Given the description of an element on the screen output the (x, y) to click on. 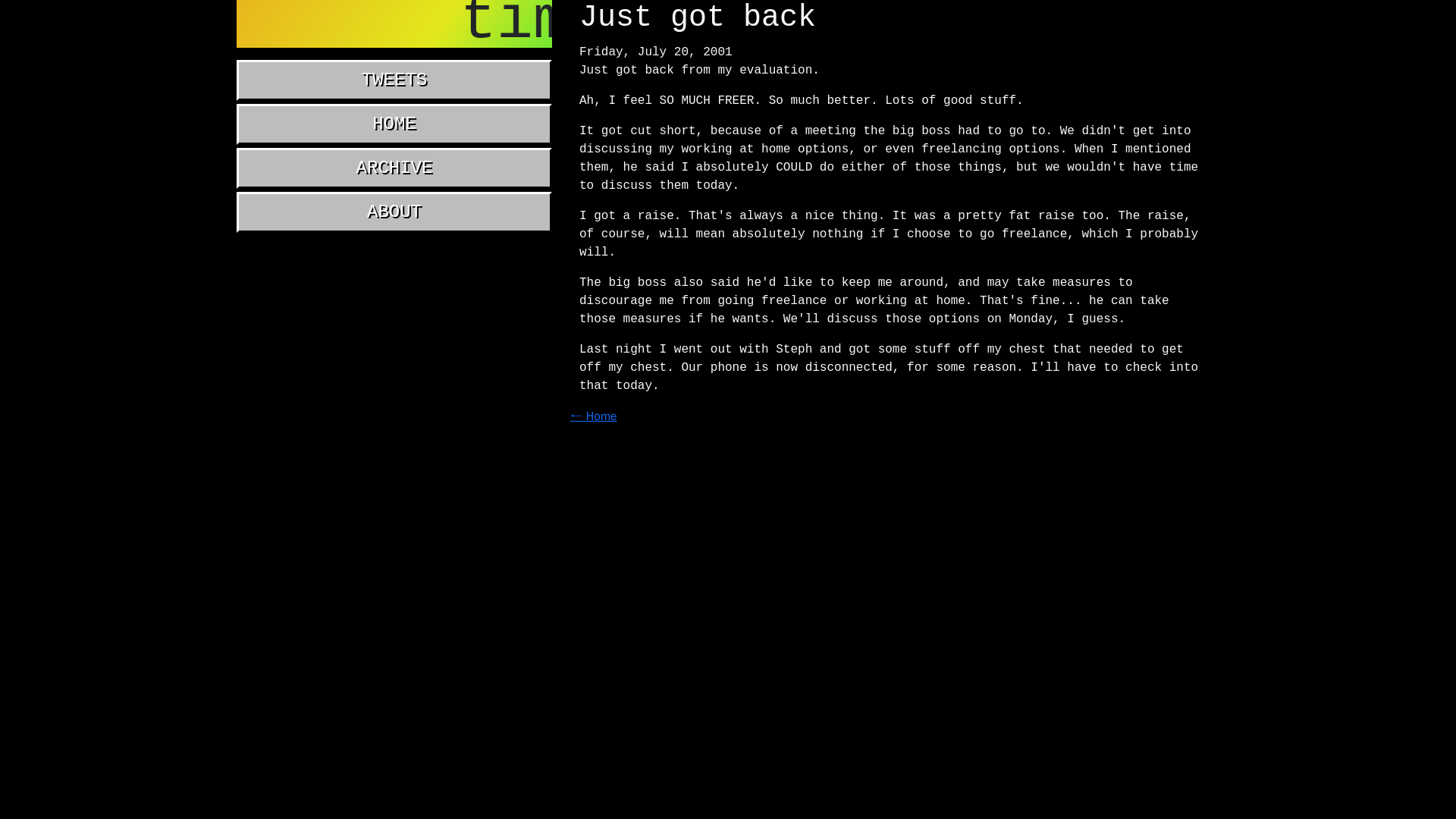
TWEETS (393, 79)
ABOUT (393, 211)
ARCHIVE (393, 168)
HOME (393, 124)
timwasson.com (393, 23)
